Given the description of an element on the screen output the (x, y) to click on. 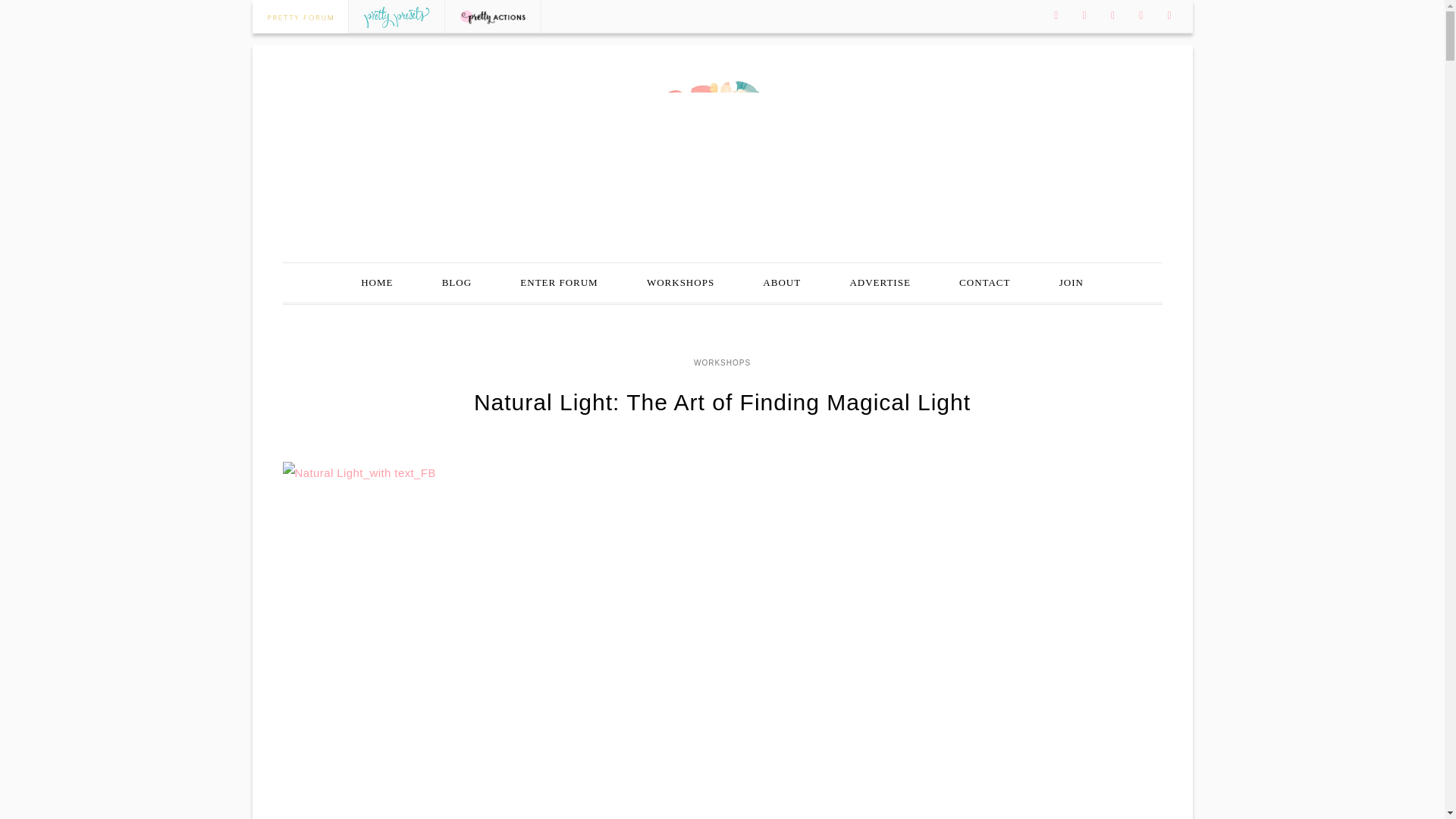
BLOG (457, 282)
ABOUT (781, 282)
WORKSHOPS (680, 282)
HOME (375, 282)
PRETTY FORUM (722, 151)
CONTACT (984, 282)
WORKSHOPS (721, 362)
ENTER FORUM (558, 282)
JOIN (1071, 282)
ADVERTISE (880, 282)
